Given the description of an element on the screen output the (x, y) to click on. 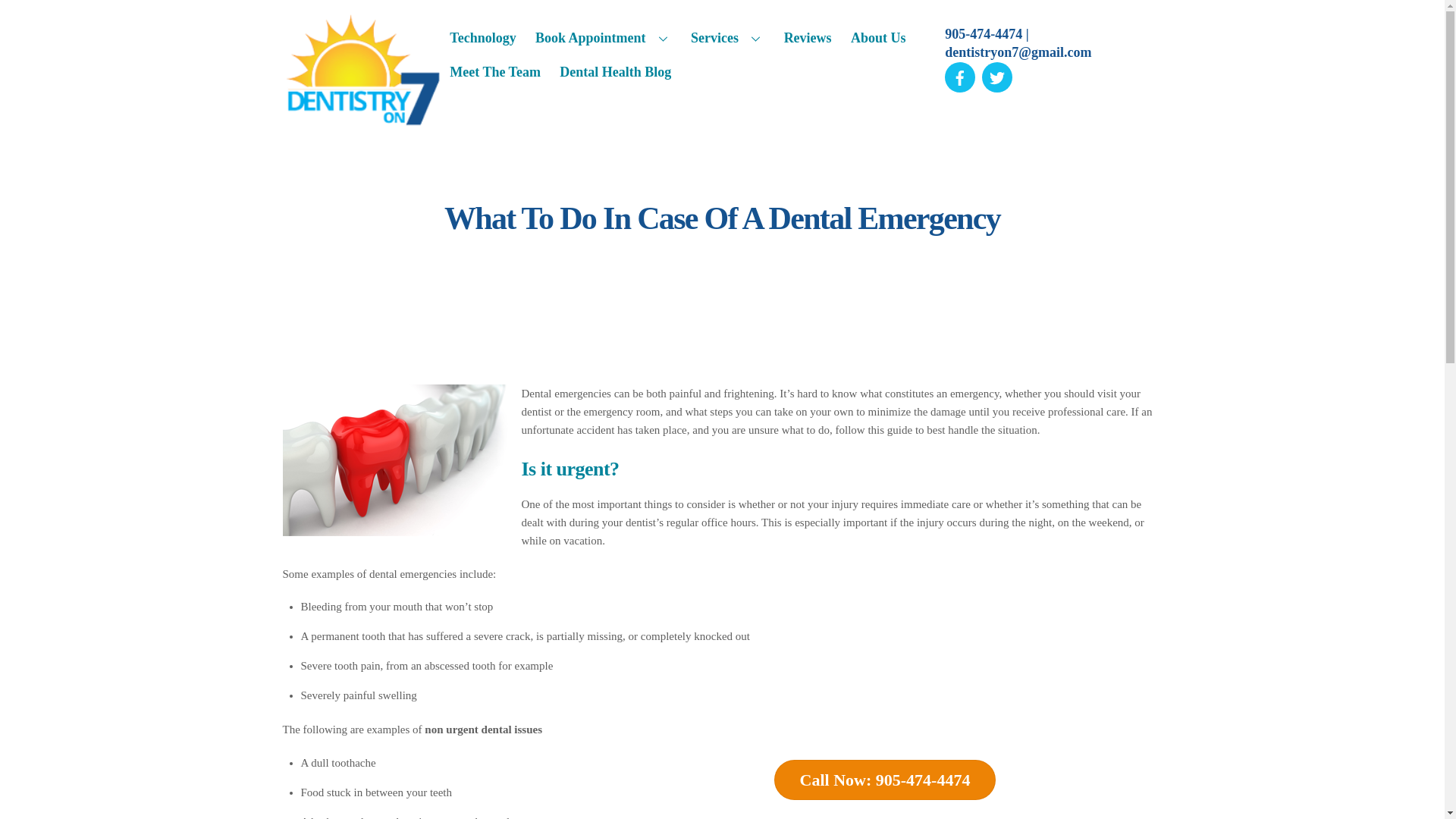
Meet The Team (494, 72)
Call Now: 905-474-4474 (884, 780)
Reviews (808, 37)
Dentistry On 7 (361, 121)
About Us (878, 37)
Dental Health Blog (615, 72)
Technology (482, 37)
Book Appointment (603, 37)
d7-logo (361, 69)
Services (727, 37)
